Given the description of an element on the screen output the (x, y) to click on. 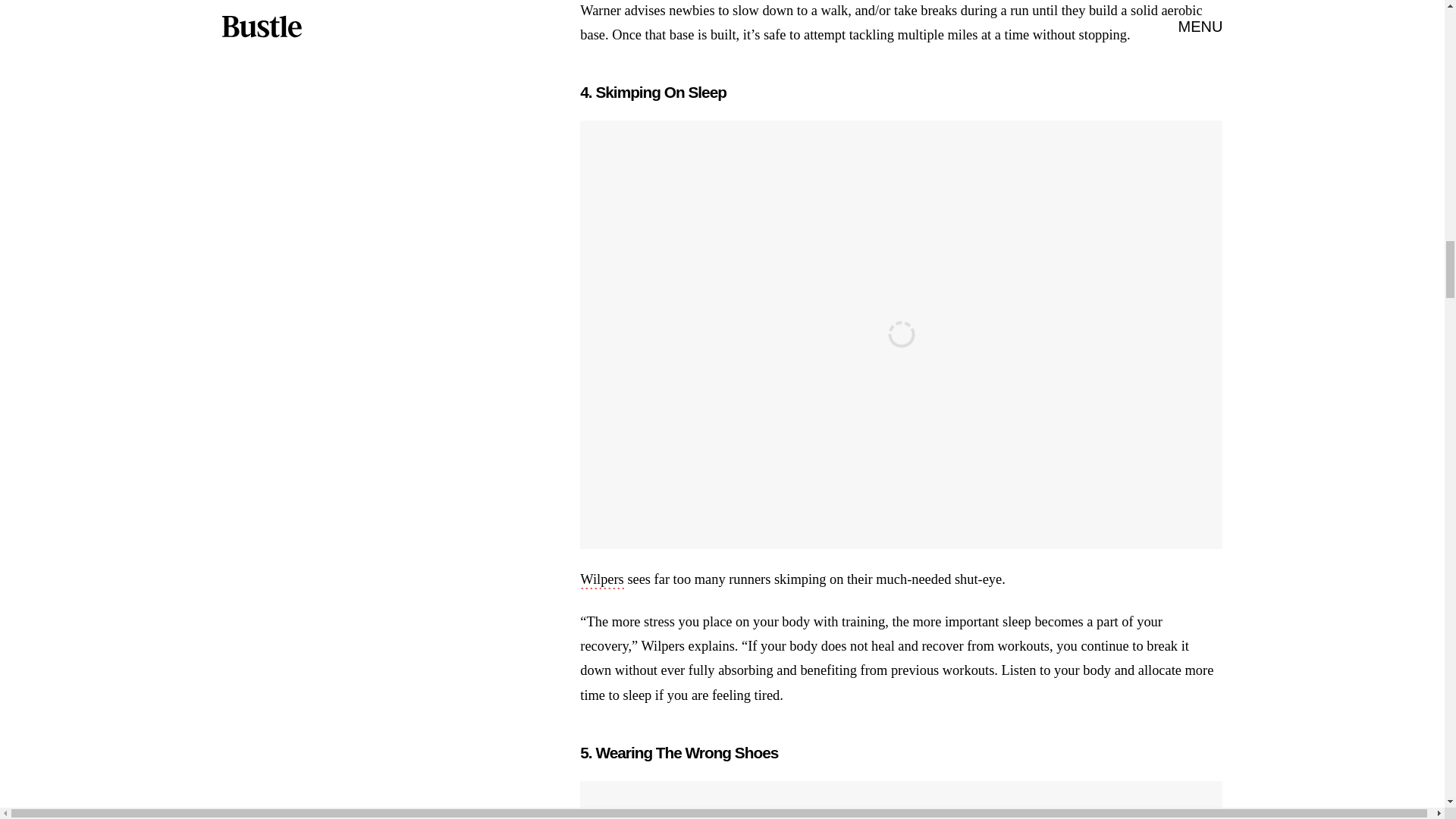
Wilpers (601, 580)
